Given the description of an element on the screen output the (x, y) to click on. 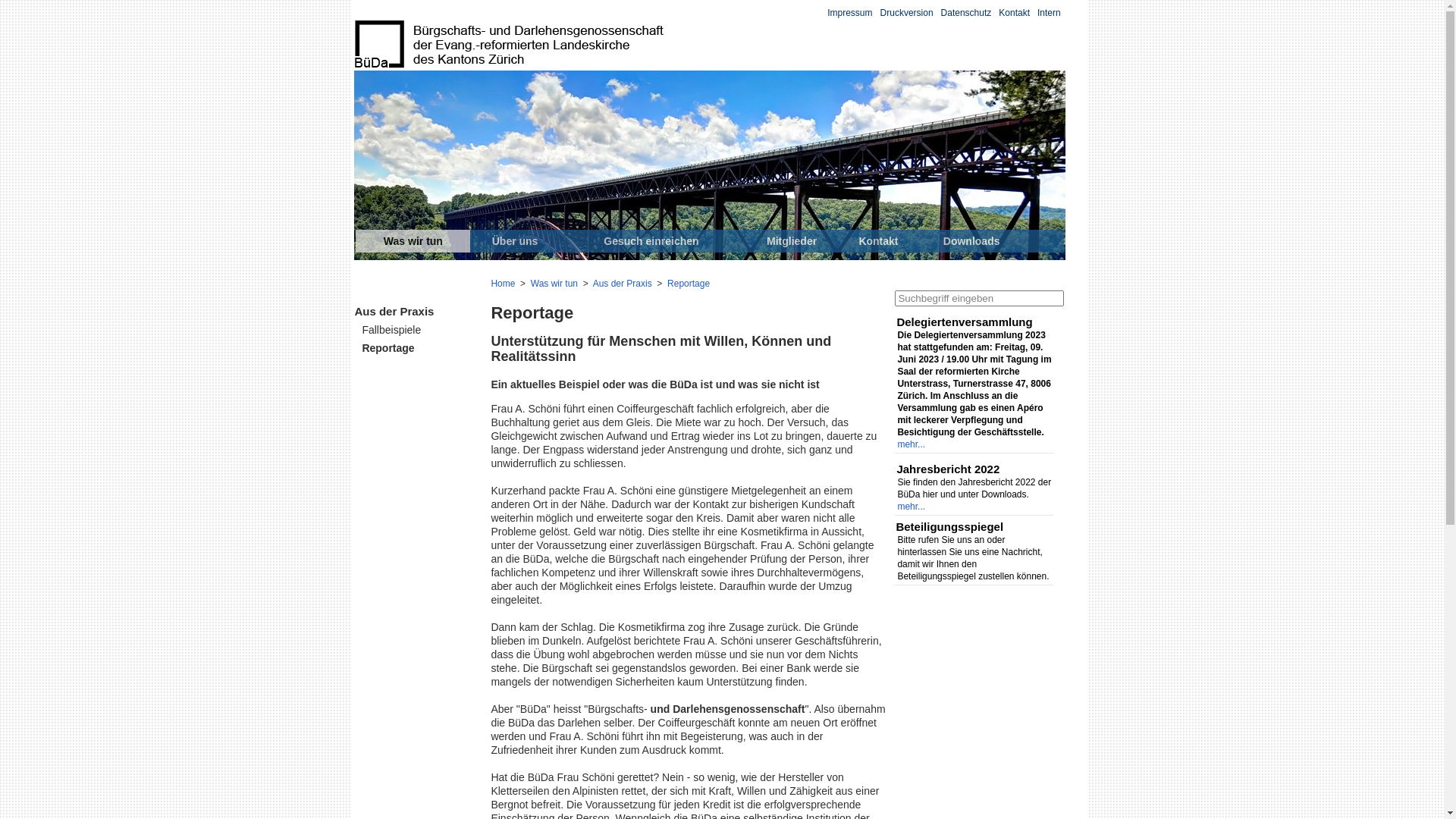
Kontakt Element type: text (1013, 12)
Was wir tun Element type: text (553, 283)
Druckversion Element type: text (906, 12)
Downloads Element type: text (971, 240)
Home Element type: text (502, 283)
Aus der Praxis Element type: text (622, 283)
Intern Element type: text (1048, 12)
Delegiertenversammlung Element type: text (974, 319)
Mitglieder Element type: text (791, 240)
Jahresbericht 2022 Element type: text (974, 467)
Was wir tun Element type: text (412, 240)
Reportage Element type: text (387, 367)
Impressum Element type: text (849, 12)
Datenschutz Element type: text (966, 12)
Gesuch einreichen Element type: text (651, 240)
Reportage Element type: text (688, 283)
Aus der Praxis Element type: text (393, 329)
Fallbeispiele Element type: text (392, 344)
Kontakt Element type: text (878, 240)
mehr... Element type: text (911, 506)
mehr... Element type: text (911, 444)
